Given the description of an element on the screen output the (x, y) to click on. 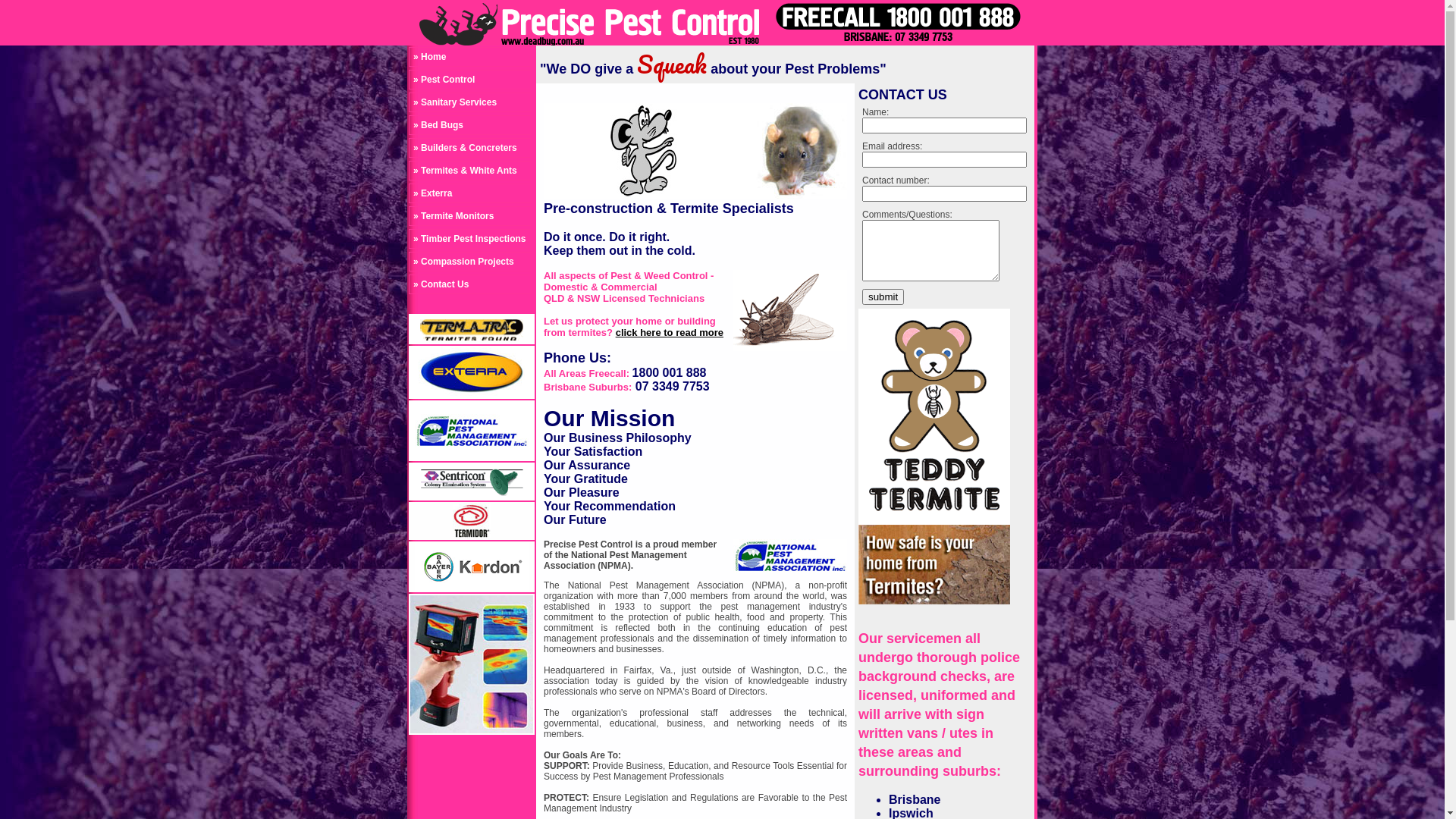
click here to read more Element type: text (669, 332)
submit Element type: text (882, 296)
